Given the description of an element on the screen output the (x, y) to click on. 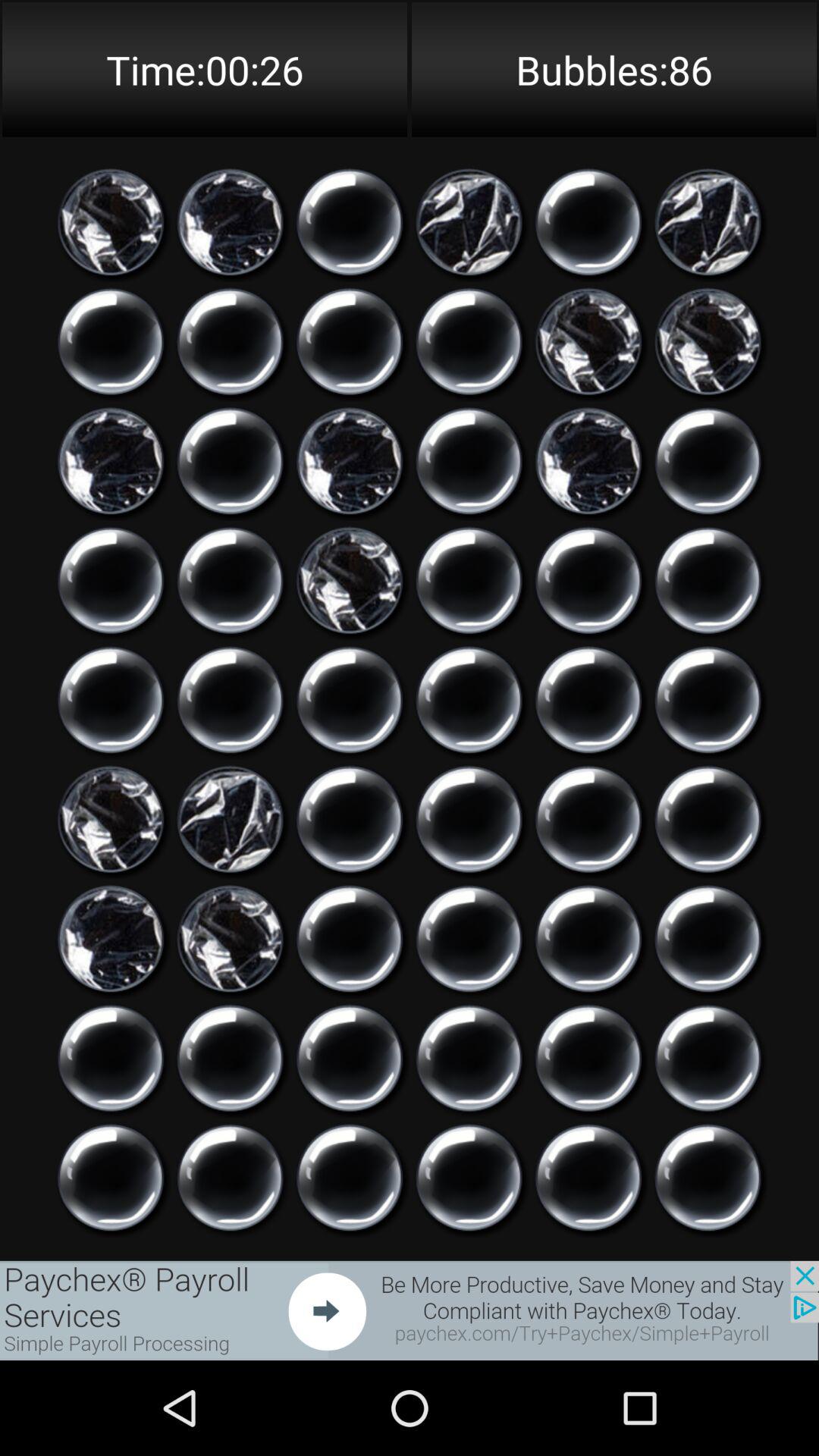
burst a bubble (230, 1058)
